Given the description of an element on the screen output the (x, y) to click on. 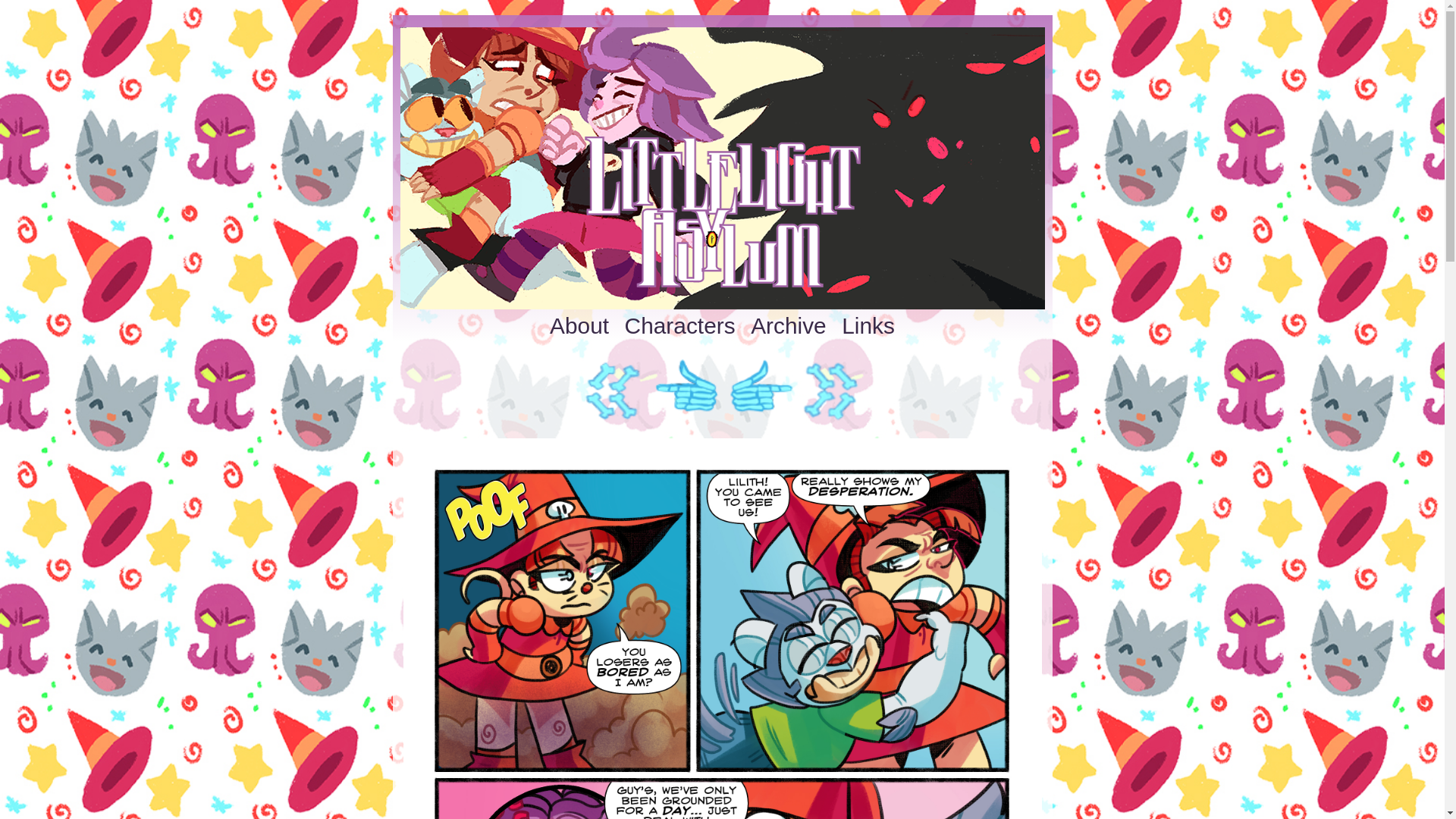
Links (868, 325)
Characters (679, 325)
Archive (787, 325)
About (578, 325)
